Given the description of an element on the screen output the (x, y) to click on. 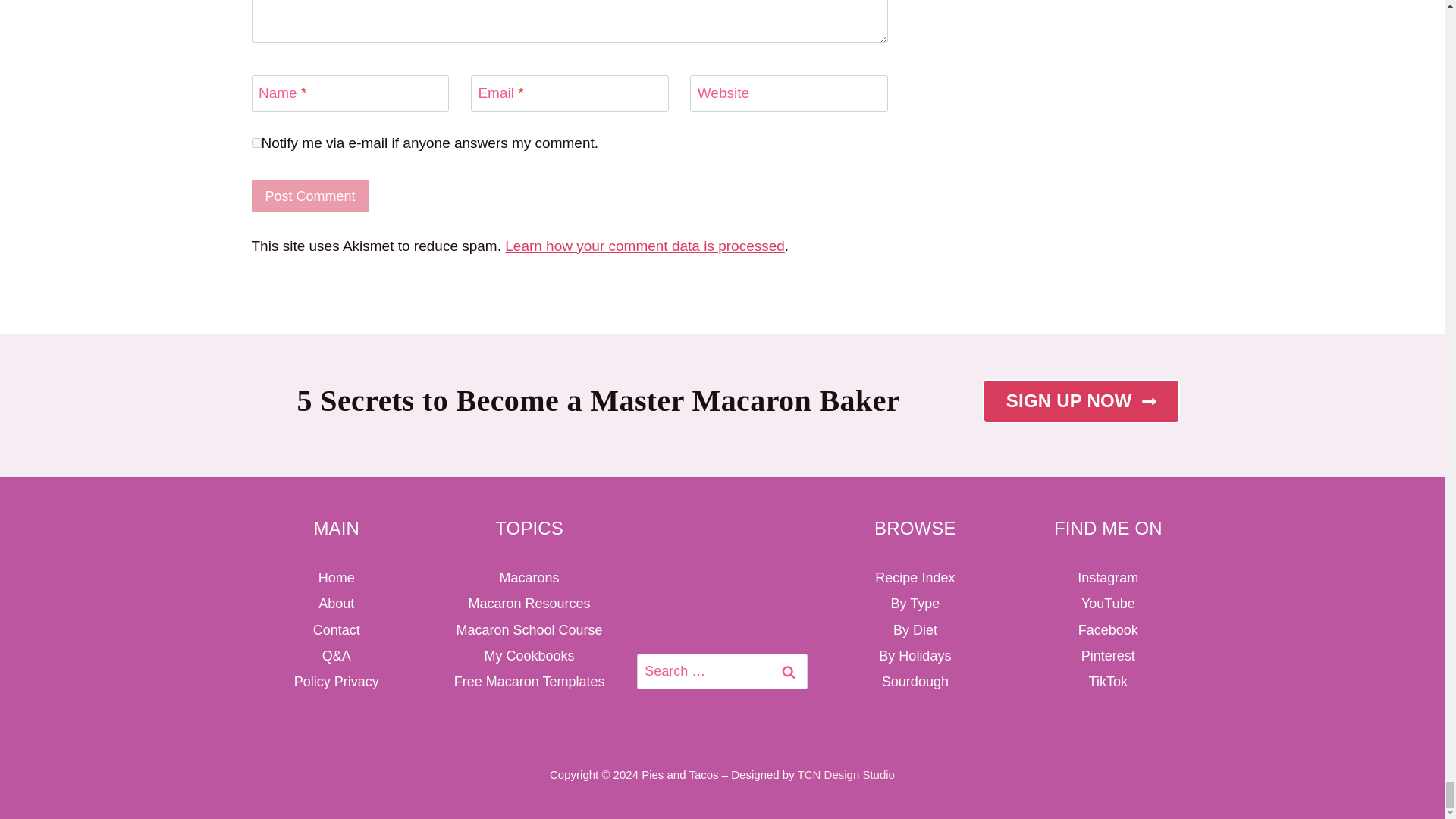
Search (789, 671)
Post Comment (310, 195)
Search (789, 671)
on (256, 143)
